Given the description of an element on the screen output the (x, y) to click on. 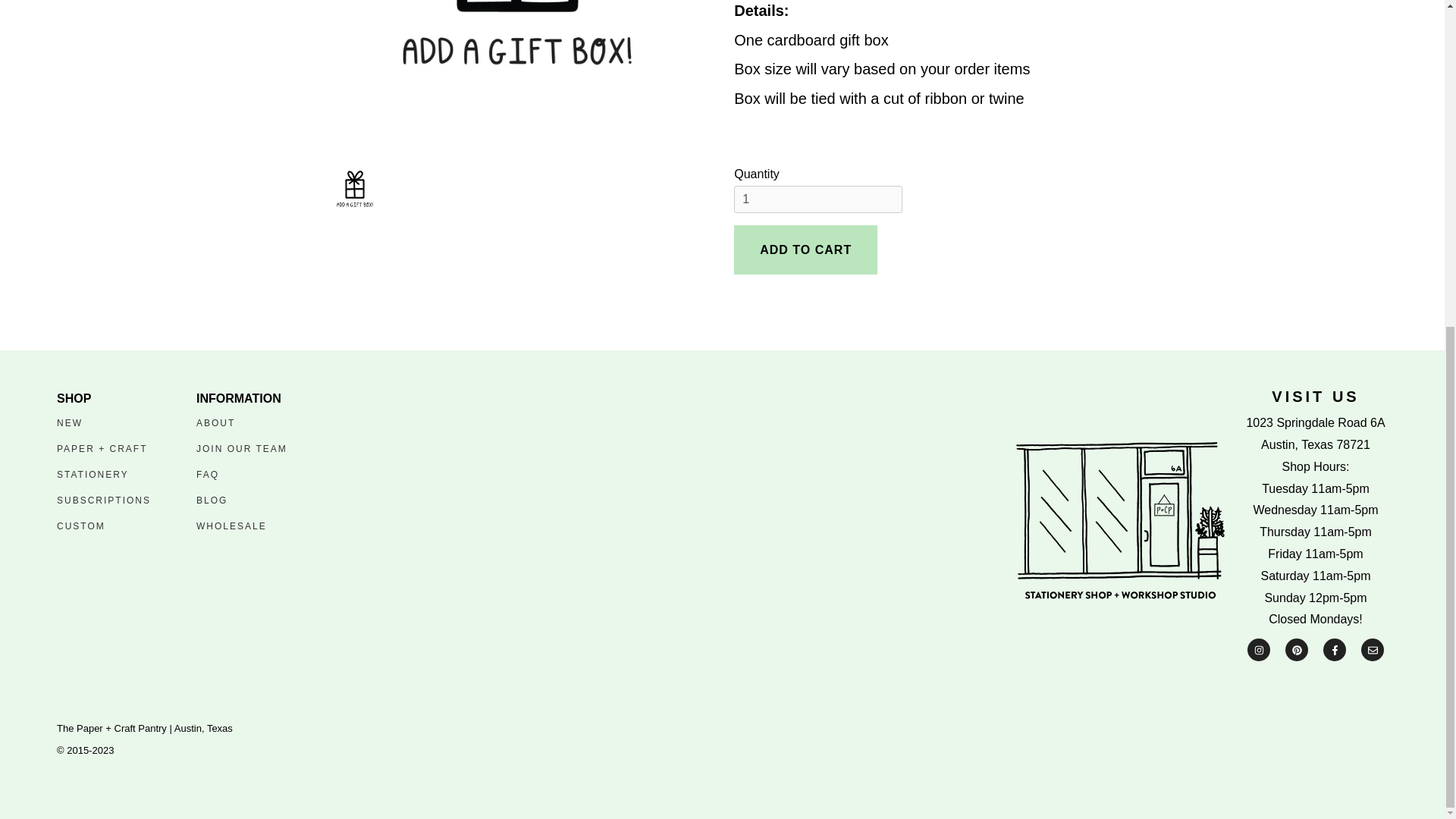
1 (817, 198)
